Given the description of an element on the screen output the (x, y) to click on. 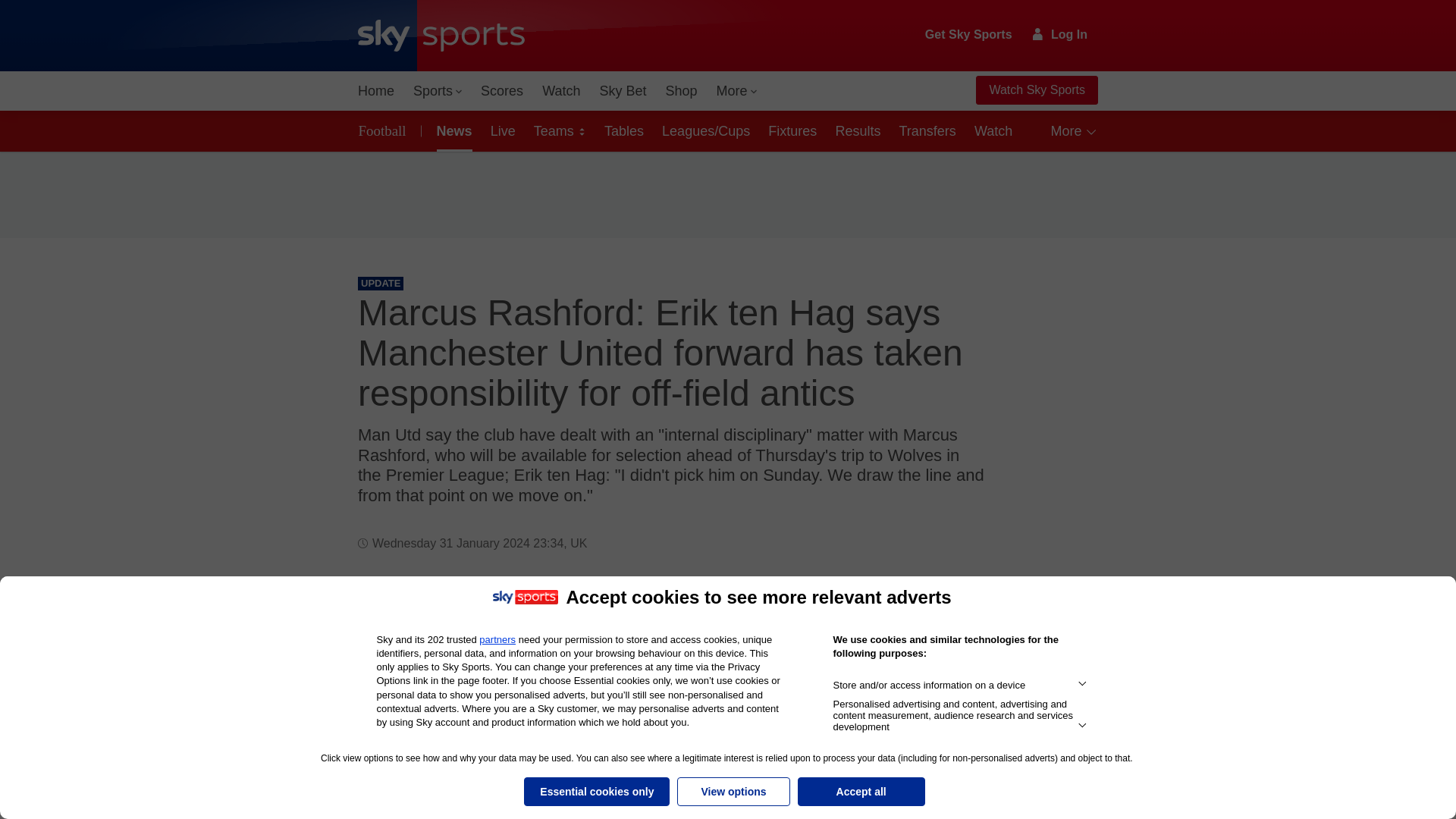
Home (375, 91)
Scores (502, 91)
Football (385, 130)
Sports (437, 91)
Watch (561, 91)
Get Sky Sports (968, 34)
News (451, 130)
Shop (681, 91)
Log In (1060, 33)
Watch Sky Sports (1036, 90)
